Given the description of an element on the screen output the (x, y) to click on. 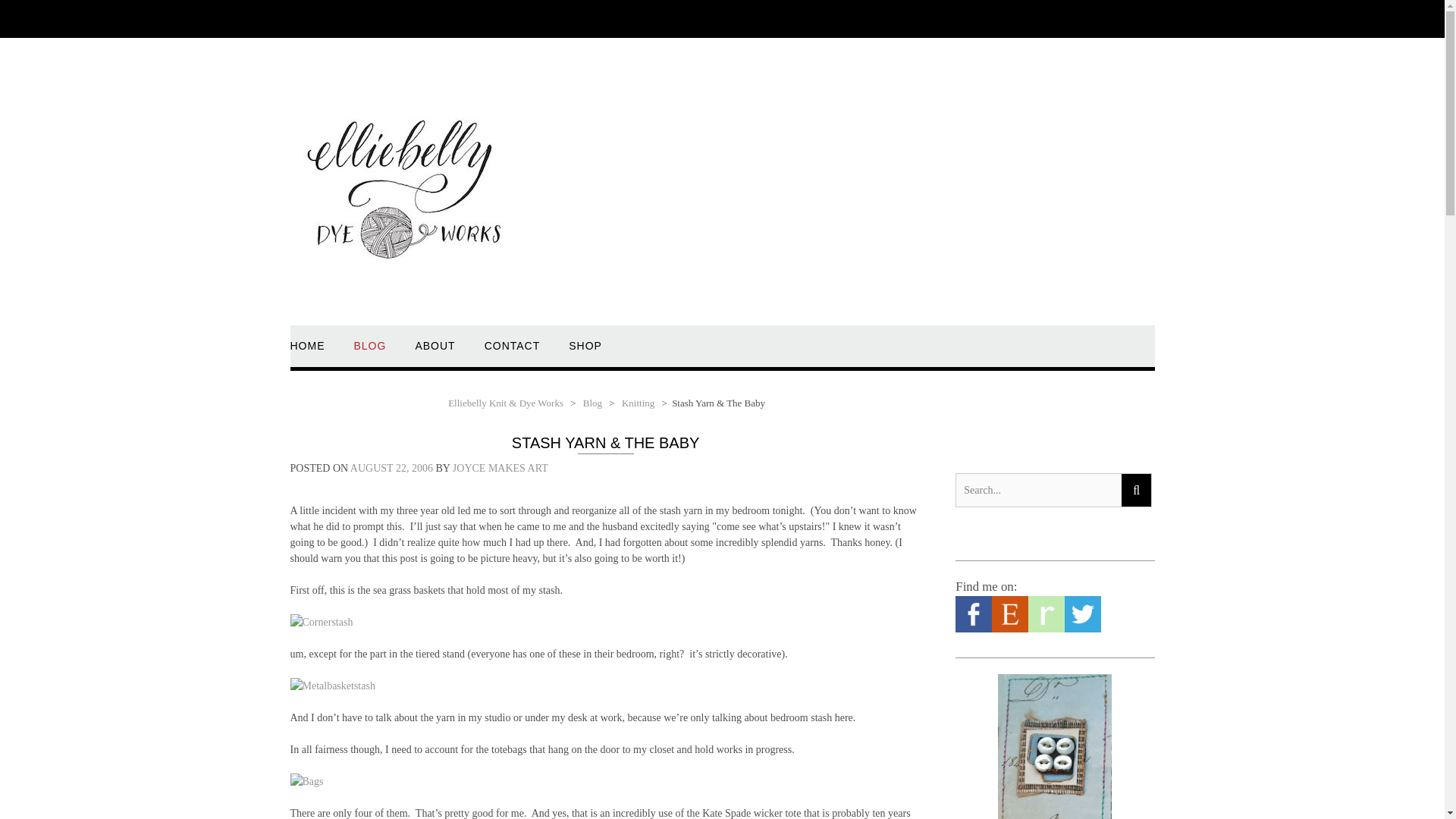
AUGUST 22, 2006 (391, 468)
Go to the Knitting Category archives. (638, 402)
Go to Blog. (592, 402)
JOYCE MAKES ART (500, 468)
BLOG (369, 352)
ABOUT (434, 352)
HOME (306, 352)
Metalbasketstash (331, 685)
Bags (306, 781)
Knitting (638, 402)
